Given the description of an element on the screen output the (x, y) to click on. 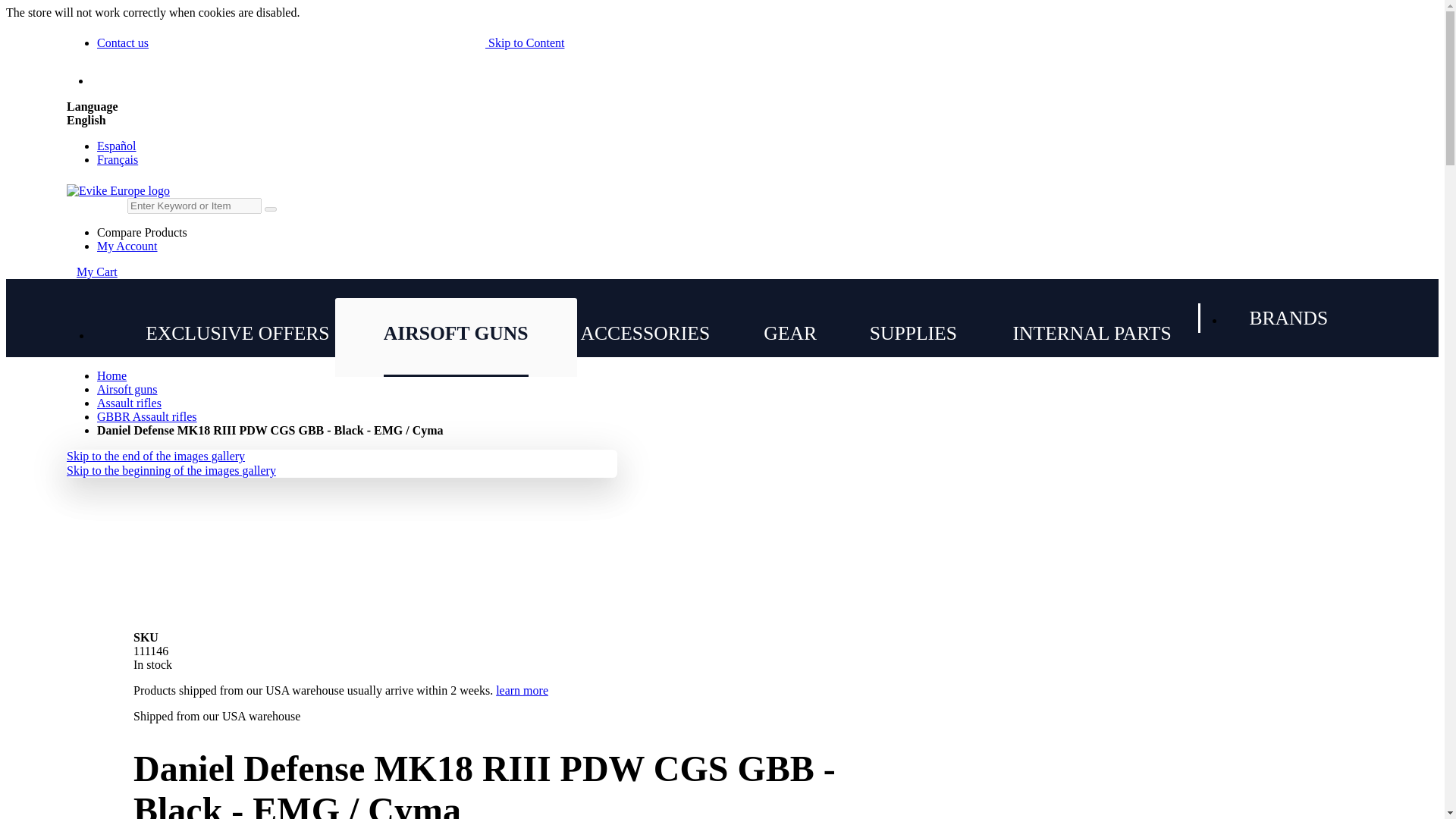
learn more (522, 689)
Skip to the end of the images gallery (155, 455)
Skip to Content (524, 42)
Assault rifles (129, 402)
EXCLUSIVE OFFERS (237, 333)
Compare Products (142, 232)
Airsoft guns (455, 333)
Airsoft guns (127, 389)
Contact us (122, 42)
INTERNAL PARTS (1091, 333)
